Given the description of an element on the screen output the (x, y) to click on. 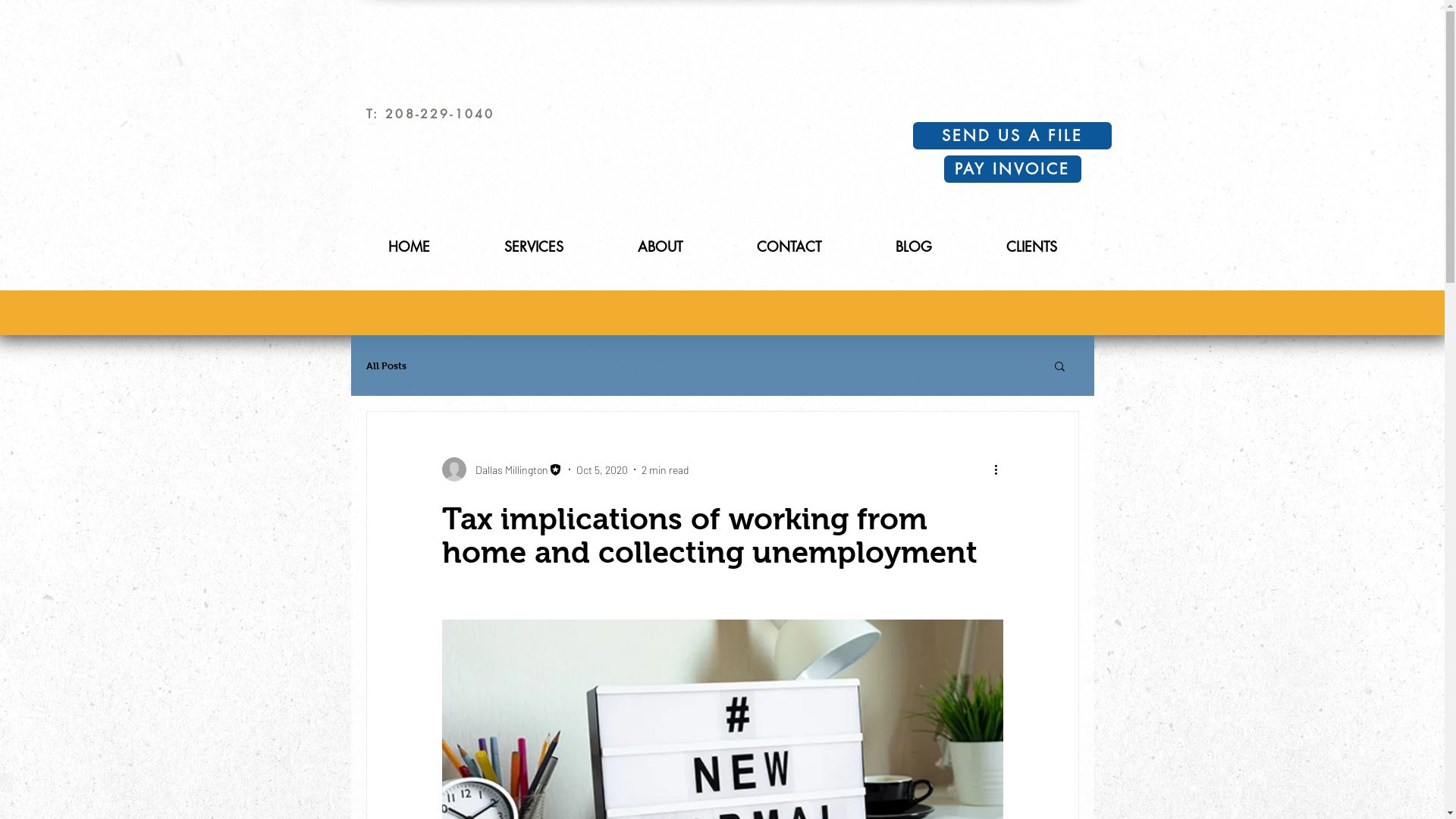
BLOG Element type: text (913, 246)
CONTACT Element type: text (787, 246)
ABOUT Element type: text (659, 246)
SEND US A FILE Element type: text (1012, 135)
HOME Element type: text (408, 246)
All Posts Element type: text (385, 364)
PAY INVOICE Element type: text (1011, 168)
CLIENTS Element type: text (1031, 246)
SERVICES Element type: text (533, 246)
